Given the description of an element on the screen output the (x, y) to click on. 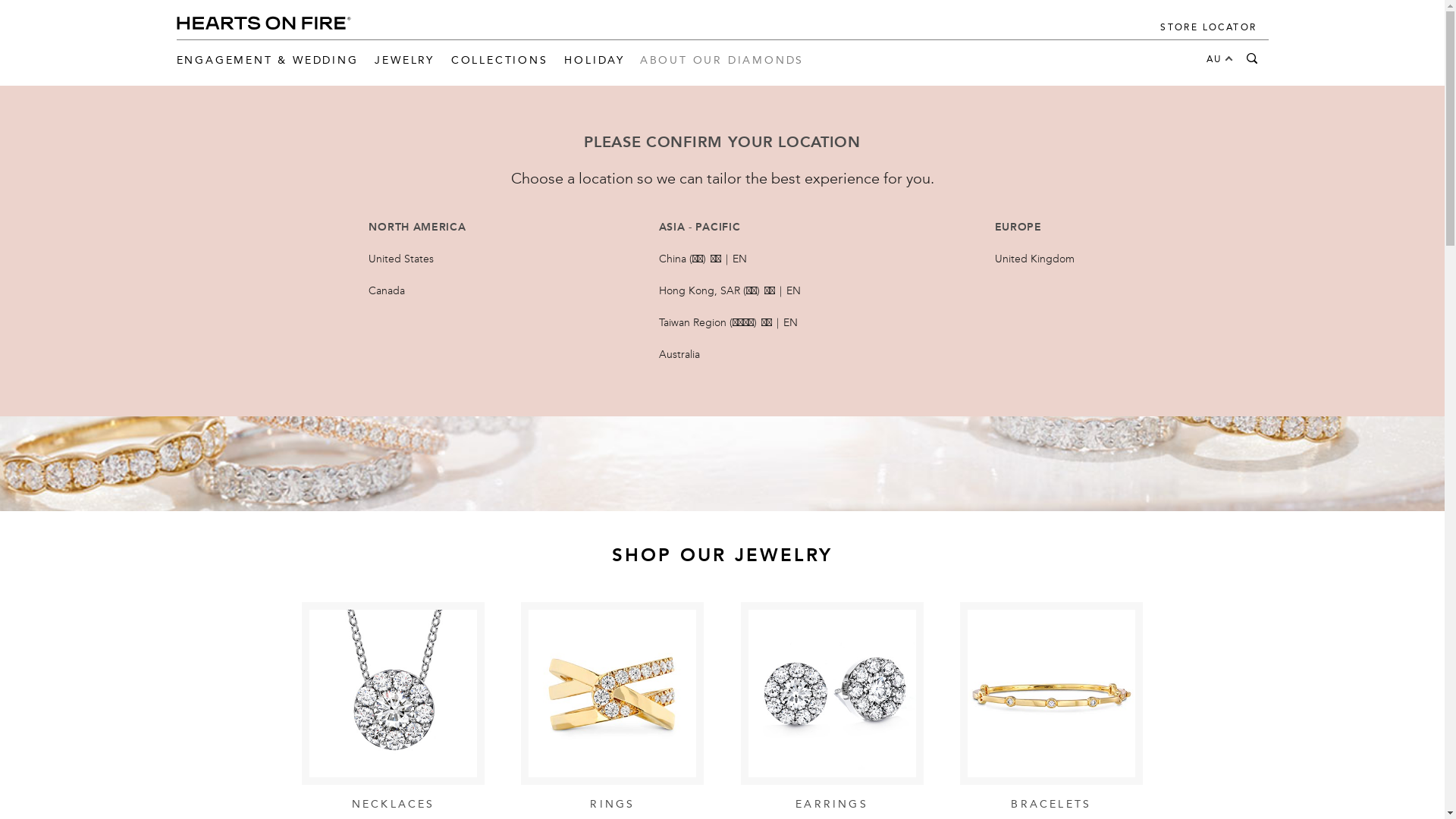
STORE LOCATOR Element type: text (1208, 23)
Australia Element type: text (679, 354)
HOLIDAY Element type: text (594, 56)
RINGS Element type: text (611, 707)
JEWELRY Element type: text (404, 56)
ABOUT OUR DIAMONDS Element type: text (721, 56)
BRACELETS Element type: text (1051, 707)
EN Element type: text (739, 259)
United States Element type: text (401, 259)
COLLECTIONS Element type: text (499, 56)
EN Element type: text (790, 322)
ENGAGEMENT & WEDDING Element type: text (266, 56)
EN Element type: text (793, 290)
United Kingdom Element type: text (1035, 259)
EARRINGS Element type: text (831, 707)
WHAT ARE YOU SEARCHING FOR? Element type: text (1251, 56)
NECKLACES Element type: text (392, 707)
AU Element type: text (1213, 56)
Canada Element type: text (387, 290)
